Given the description of an element on the screen output the (x, y) to click on. 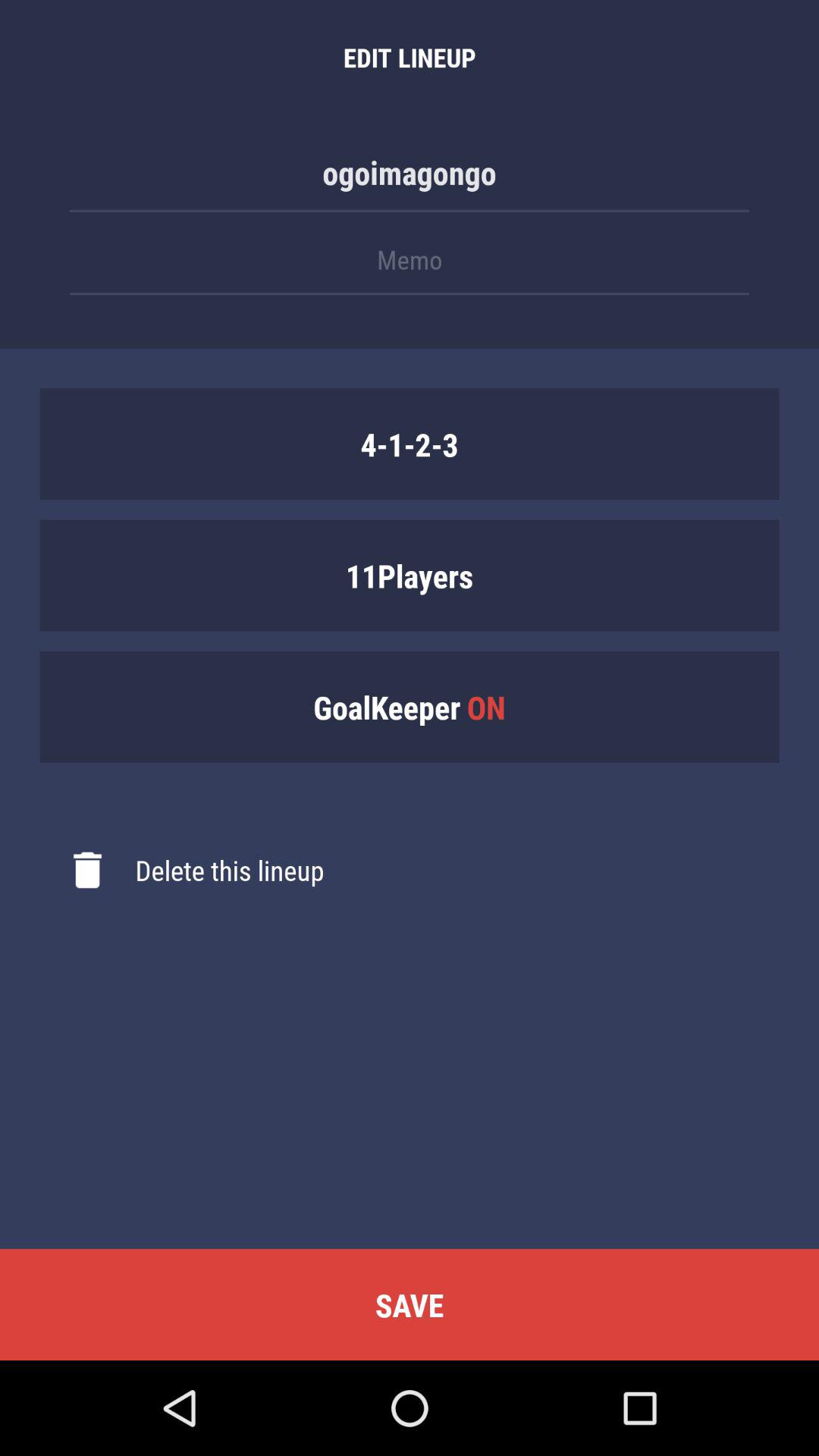
click icon above the goalkeeper (409, 575)
